Given the description of an element on the screen output the (x, y) to click on. 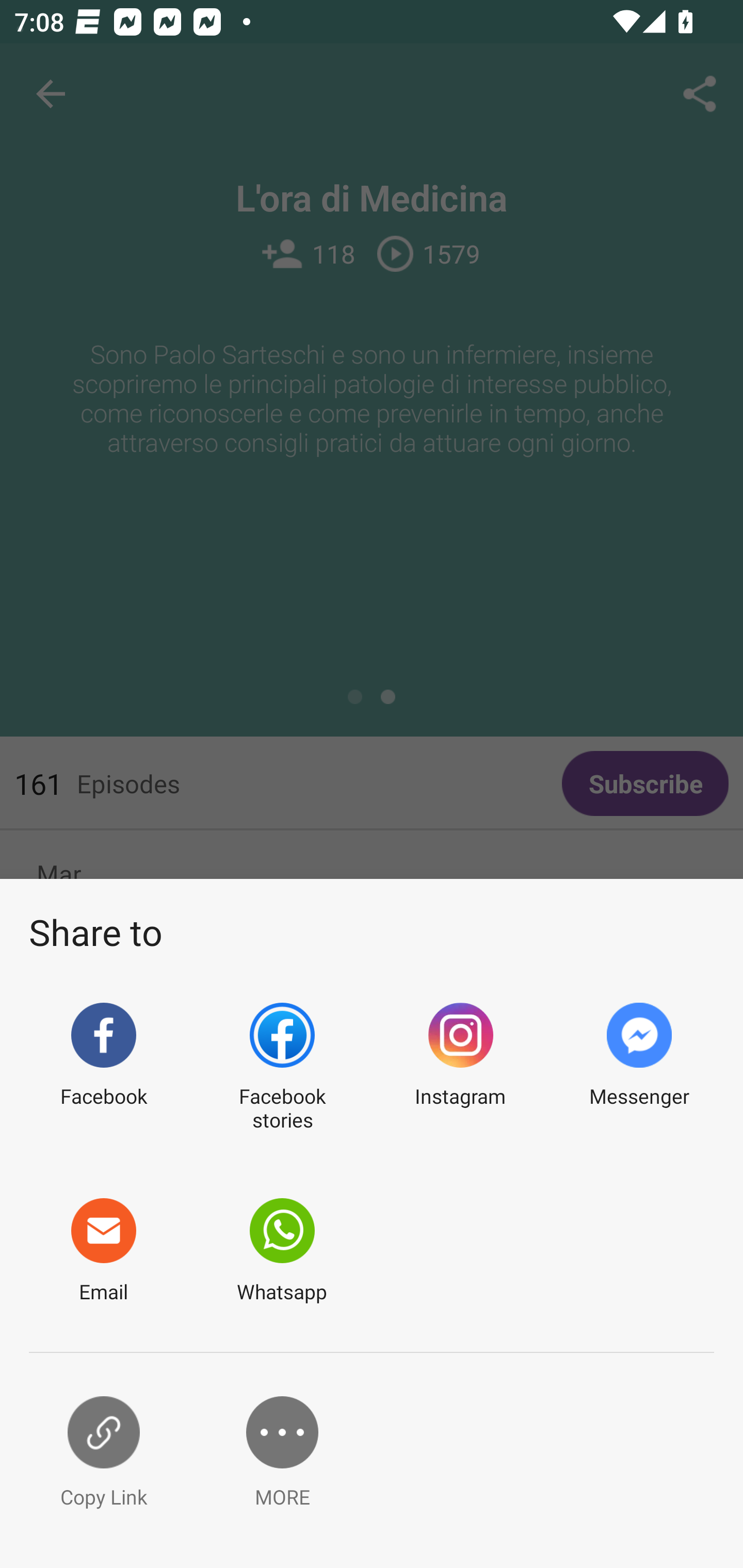
Facebook (103, 1067)
Facebook stories (282, 1067)
Instagram (460, 1067)
Messenger (638, 1067)
Email (103, 1251)
Whatsapp (282, 1251)
Copy Link (103, 1453)
MORE (282, 1453)
